Given the description of an element on the screen output the (x, y) to click on. 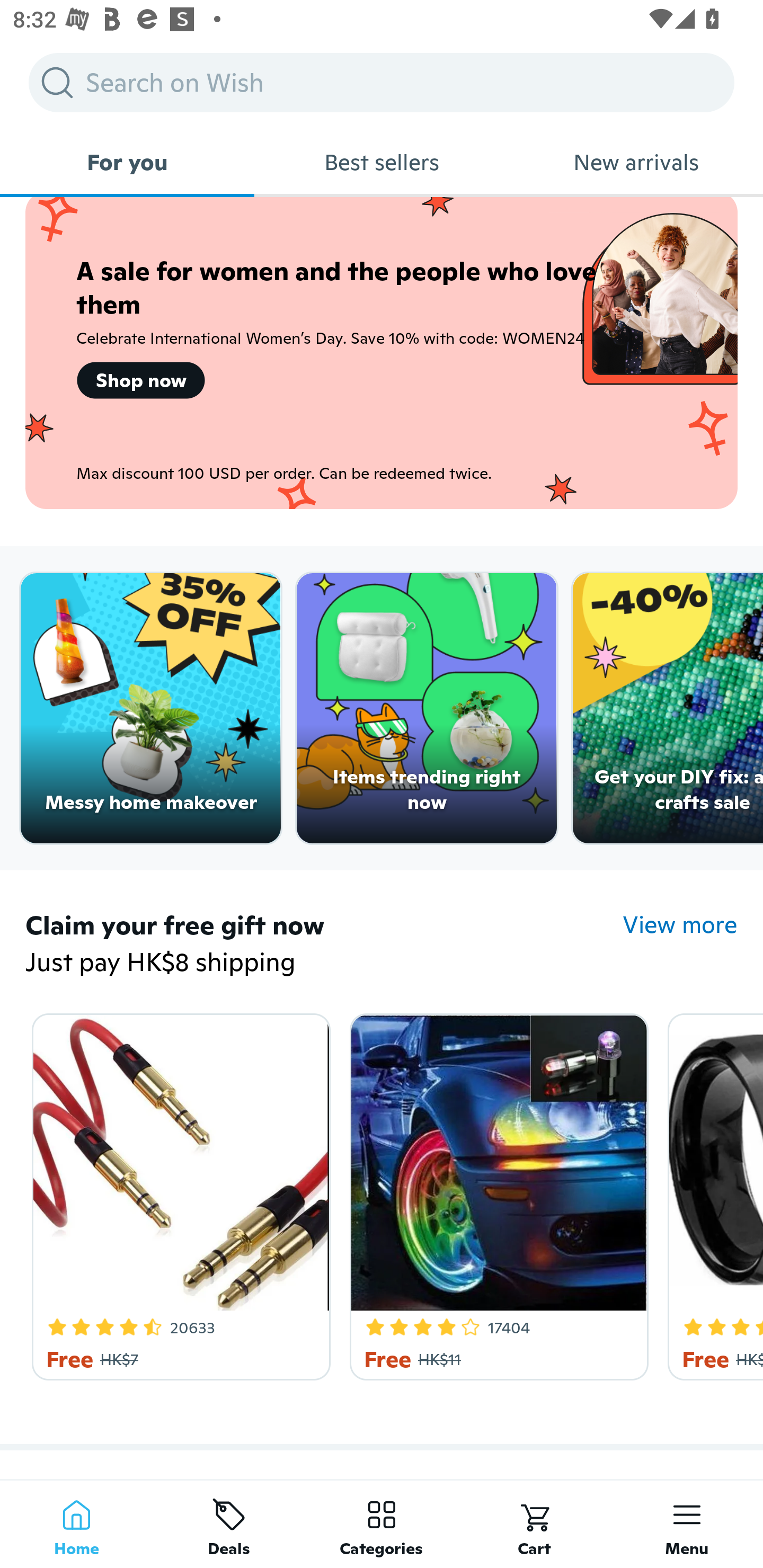
Search on Wish (381, 82)
For you (127, 161)
Best sellers (381, 161)
New arrivals (635, 161)
Messy home makeover (150, 708)
Items trending right now (426, 708)
Get your DIY fix: arts & crafts sale (668, 708)
Claim your free gift now
Just pay HK$8 shipping (323, 944)
View more (679, 923)
4.3 Star Rating 20633 Free HK$7 (177, 1192)
3.8 Star Rating 17404 Free HK$11 (495, 1192)
Home (76, 1523)
Deals (228, 1523)
Categories (381, 1523)
Cart (533, 1523)
Menu (686, 1523)
